Given the description of an element on the screen output the (x, y) to click on. 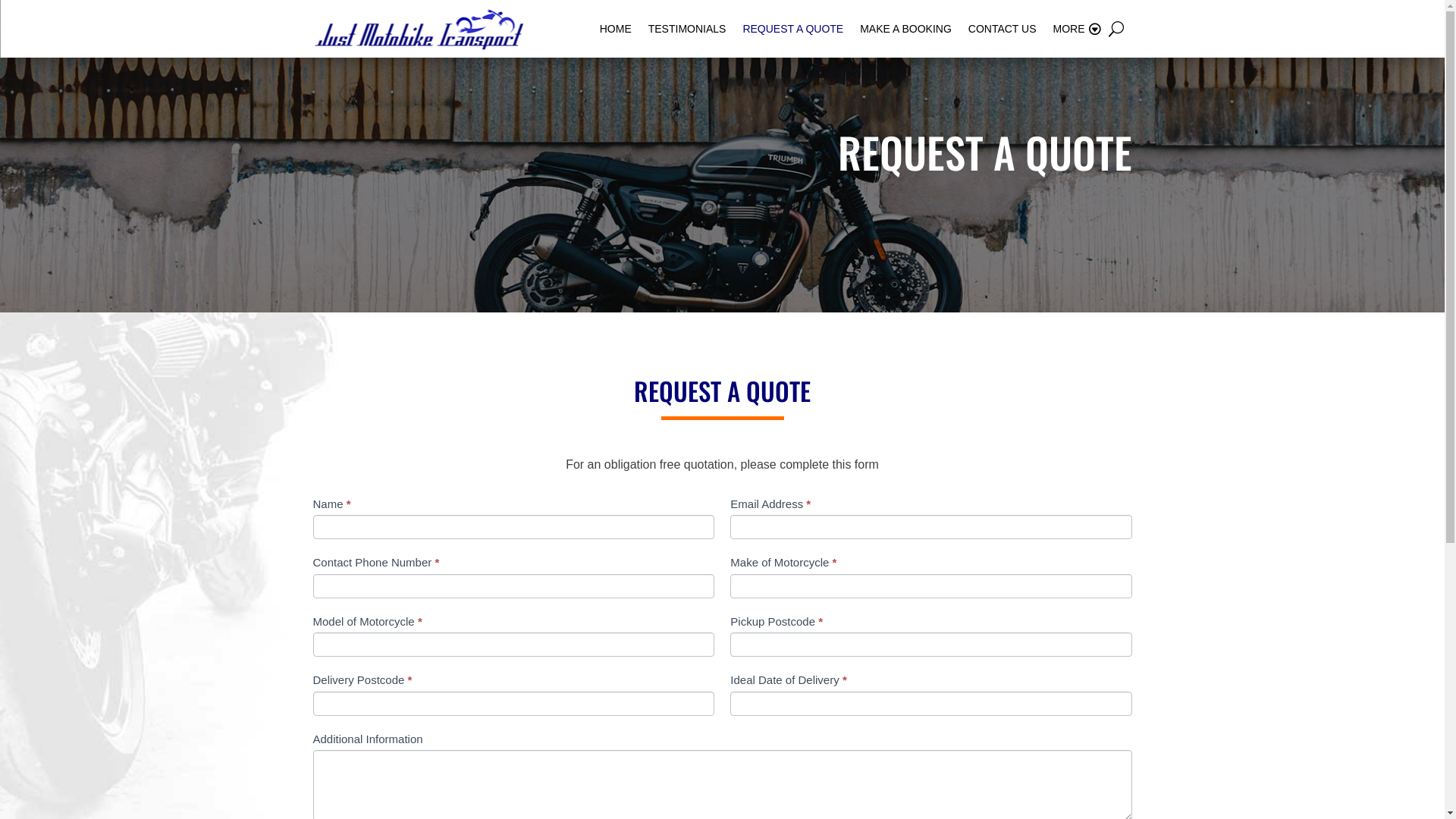
HOME Element type: text (615, 28)
MORE Element type: text (1075, 28)
REQUEST A QUOTE Element type: text (792, 28)
MAKE A BOOKING Element type: text (905, 28)
TESTIMONIALS Element type: text (687, 28)
CONTACT US Element type: text (1002, 28)
